Given the description of an element on the screen output the (x, y) to click on. 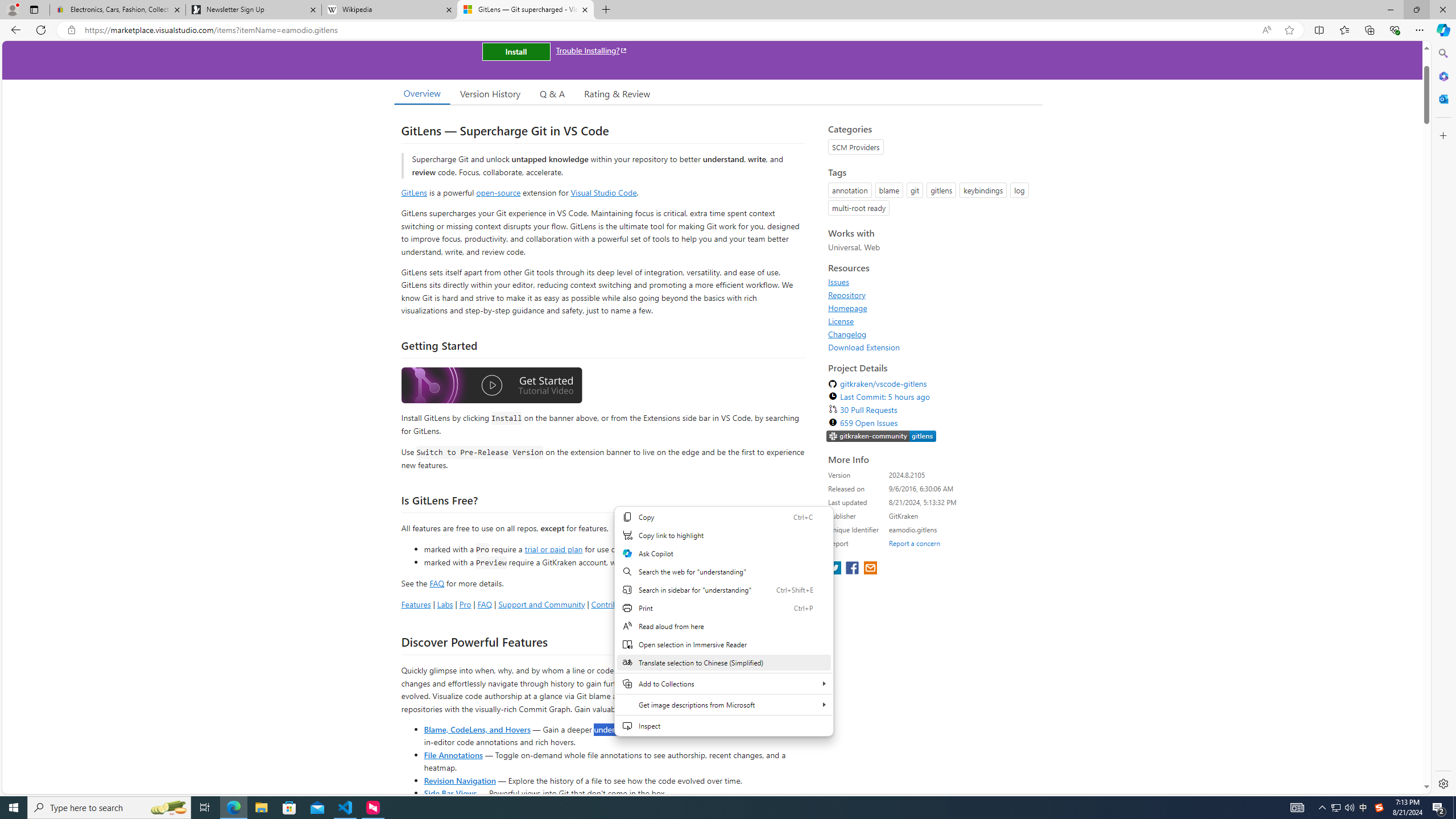
Contributors (663, 603)
Pro (464, 603)
Translate selection to Chinese (Simplified) (723, 662)
Issues (931, 281)
Newsletter Sign Up (253, 9)
Contributing (613, 603)
Print (723, 607)
Watch the GitLens Getting Started video (491, 387)
Changelog (847, 333)
trial or paid plan (553, 548)
